Given the description of an element on the screen output the (x, y) to click on. 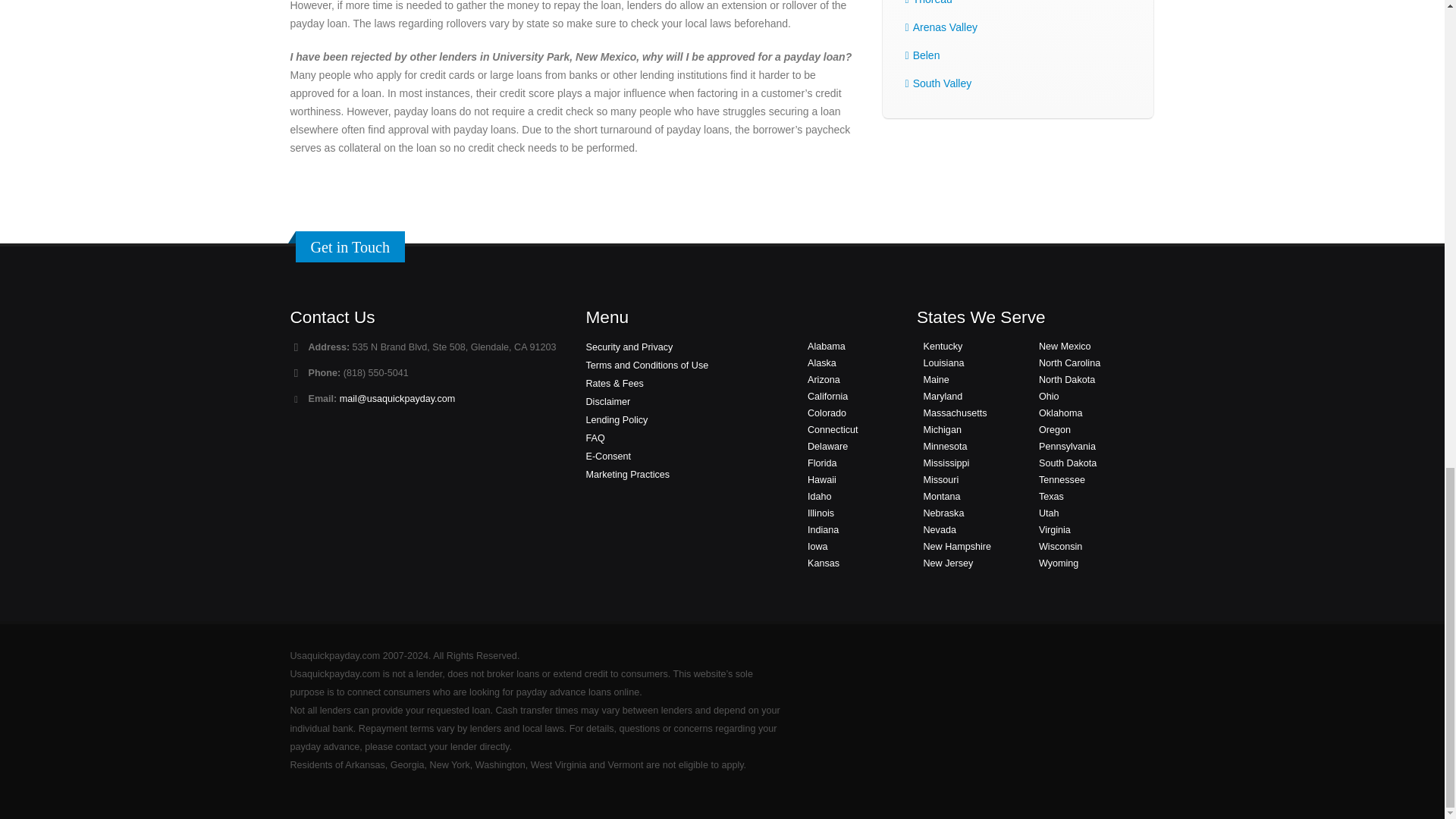
South Valley (942, 82)
Delaware (827, 446)
Disclaimer (607, 401)
Thoreau (932, 2)
Florida (822, 462)
Security and Privacy (628, 347)
Arenas Valley (944, 27)
Arizona (824, 379)
E-Consent (607, 456)
Alabama (826, 346)
Lending Policy (616, 419)
Marketing Practices (627, 474)
Terms and Conditions of Use (646, 365)
Belen (926, 55)
Idaho (819, 496)
